Given the description of an element on the screen output the (x, y) to click on. 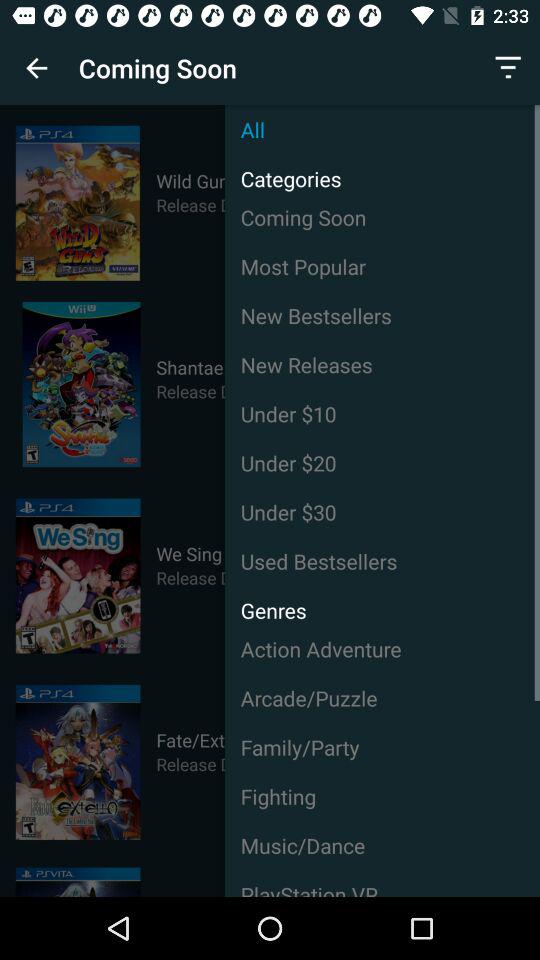
turn off the item above categories (382, 129)
